Given the description of an element on the screen output the (x, y) to click on. 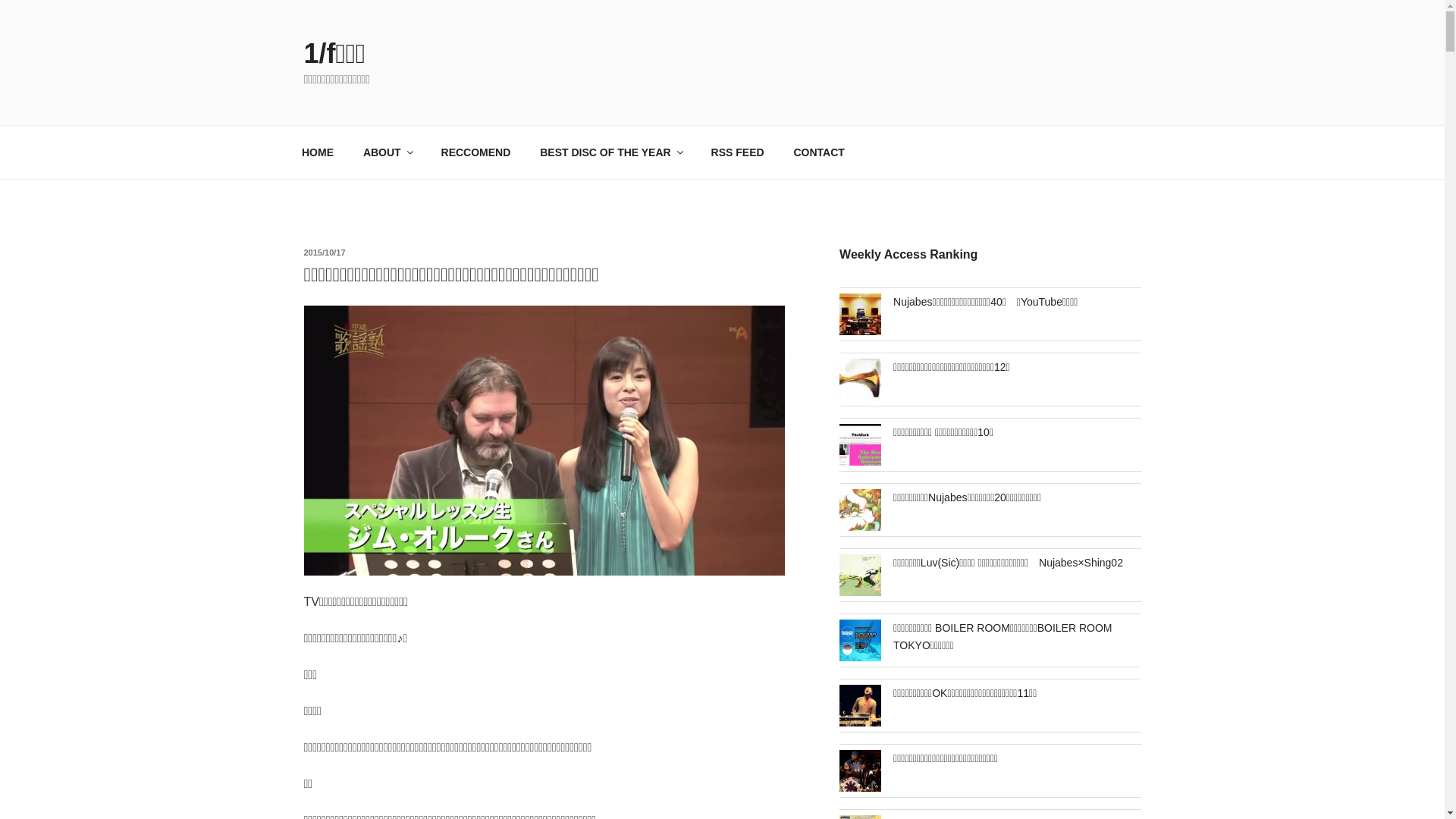
RSS FEED Element type: text (737, 151)
BEST DISC OF THE YEAR Element type: text (610, 151)
2015/10/17 Element type: text (324, 252)
CONTACT Element type: text (818, 151)
RECCOMEND Element type: text (475, 151)
HOME Element type: text (317, 151)
ABOUT Element type: text (386, 151)
